Given the description of an element on the screen output the (x, y) to click on. 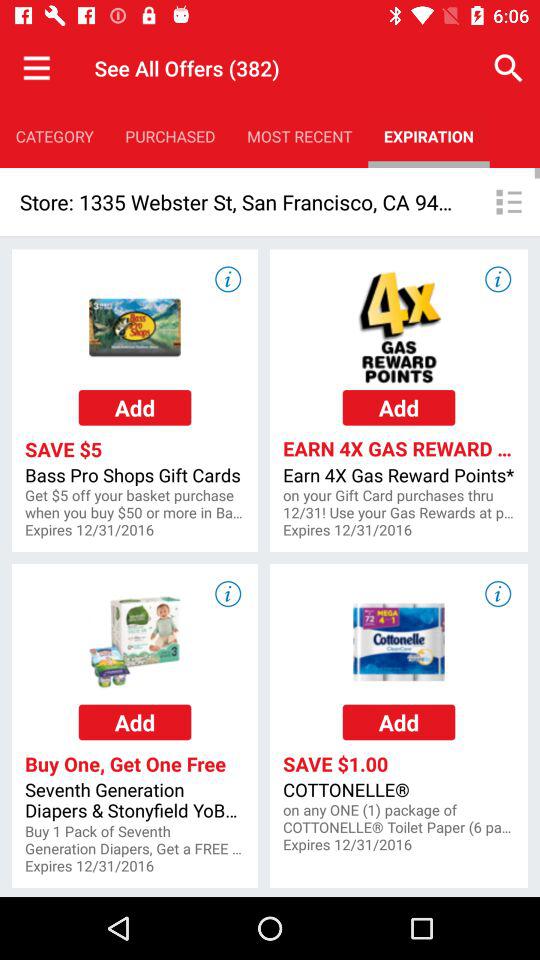
press the icon below the bass pro shops app (134, 504)
